Given the description of an element on the screen output the (x, y) to click on. 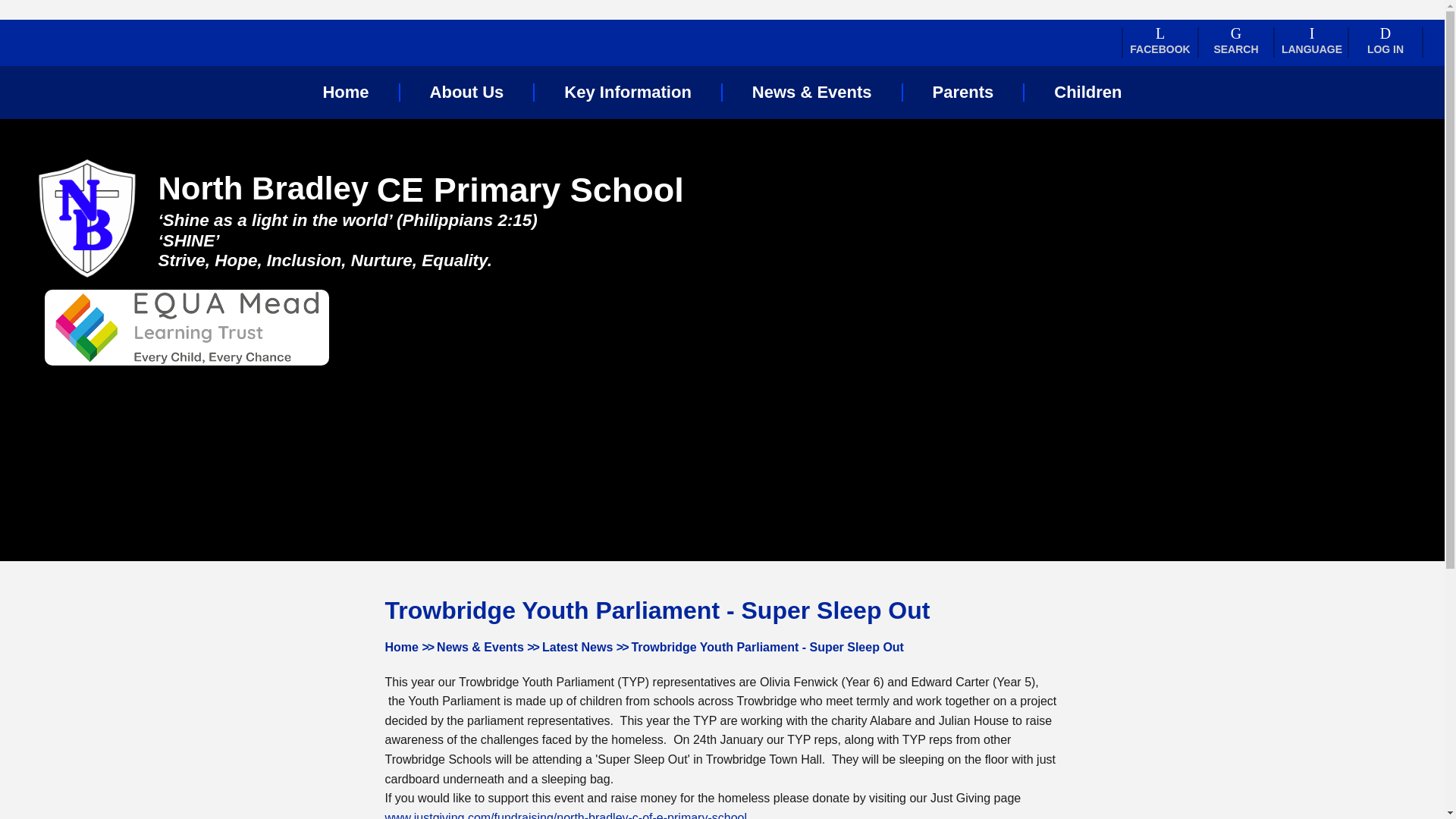
Home (345, 92)
About Us (466, 92)
Log in (1385, 42)
Key Information (627, 92)
